Given the description of an element on the screen output the (x, y) to click on. 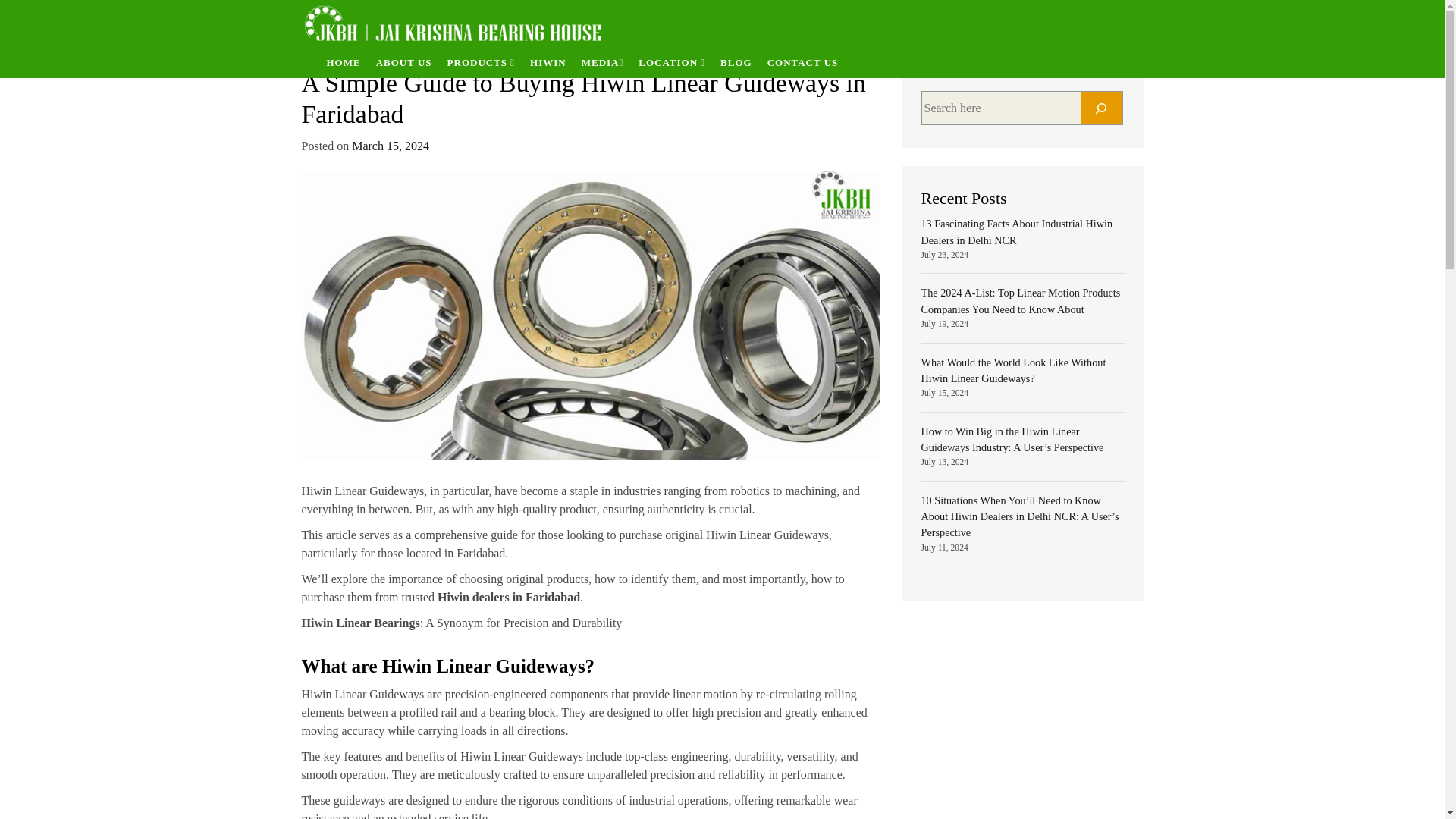
March 15, 2024 (390, 145)
BLOG (736, 62)
HIWIN (547, 62)
CONTACT US (802, 62)
HOME (342, 62)
ABOUT US (403, 62)
LOCATION (671, 62)
Hiwin dealers in Faridabad (508, 596)
MEDIA (602, 62)
PRODUCTS (480, 62)
